Given the description of an element on the screen output the (x, y) to click on. 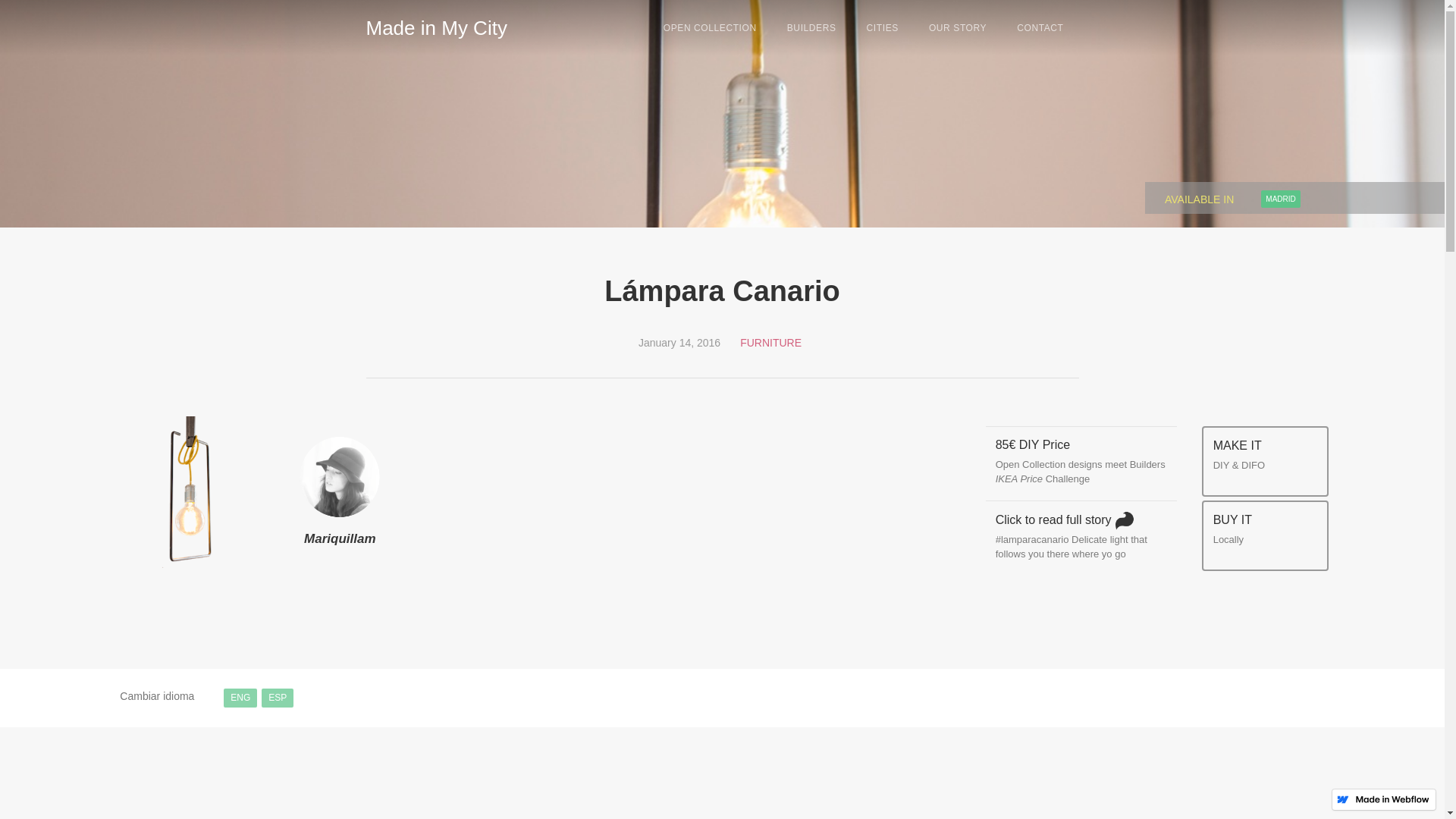
MADRID Element type: text (1269, 194)
BUILDERS Element type: text (811, 27)
Click to read full story  Element type: text (1068, 521)
Made in My City Element type: text (435, 24)
OPEN COLLECTION Element type: text (709, 27)
MAKE IT
DIY & DIFO Element type: text (1238, 462)
Mariquillam Element type: text (339, 538)
FURNITURE Element type: text (770, 342)
CONTACT Element type: text (1039, 27)
BUY IT
Locally Element type: text (1232, 536)
CITIES Element type: text (882, 27)
OUR STORY Element type: text (957, 27)
